Given the description of an element on the screen output the (x, y) to click on. 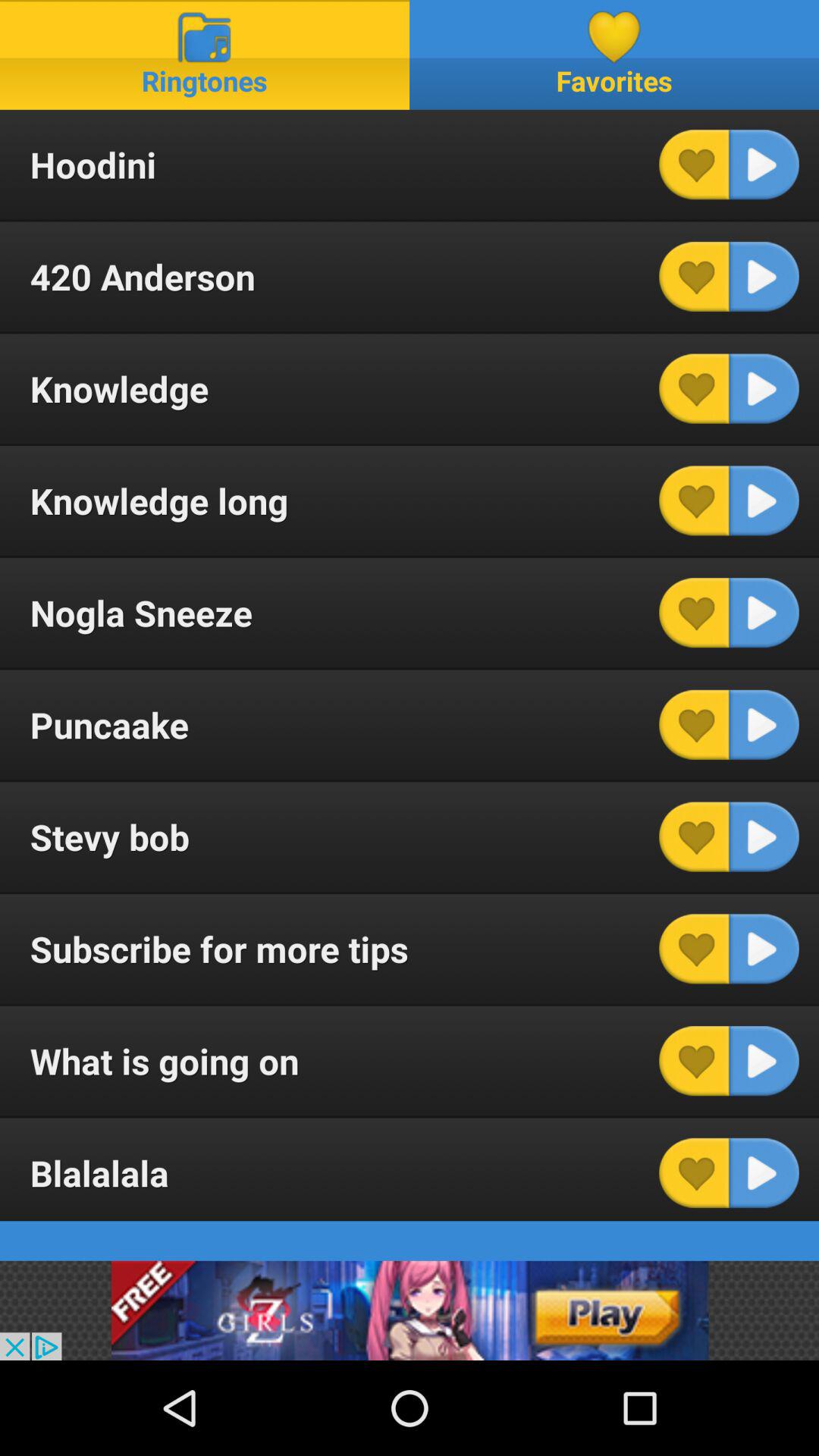
play the audio (764, 948)
